Given the description of an element on the screen output the (x, y) to click on. 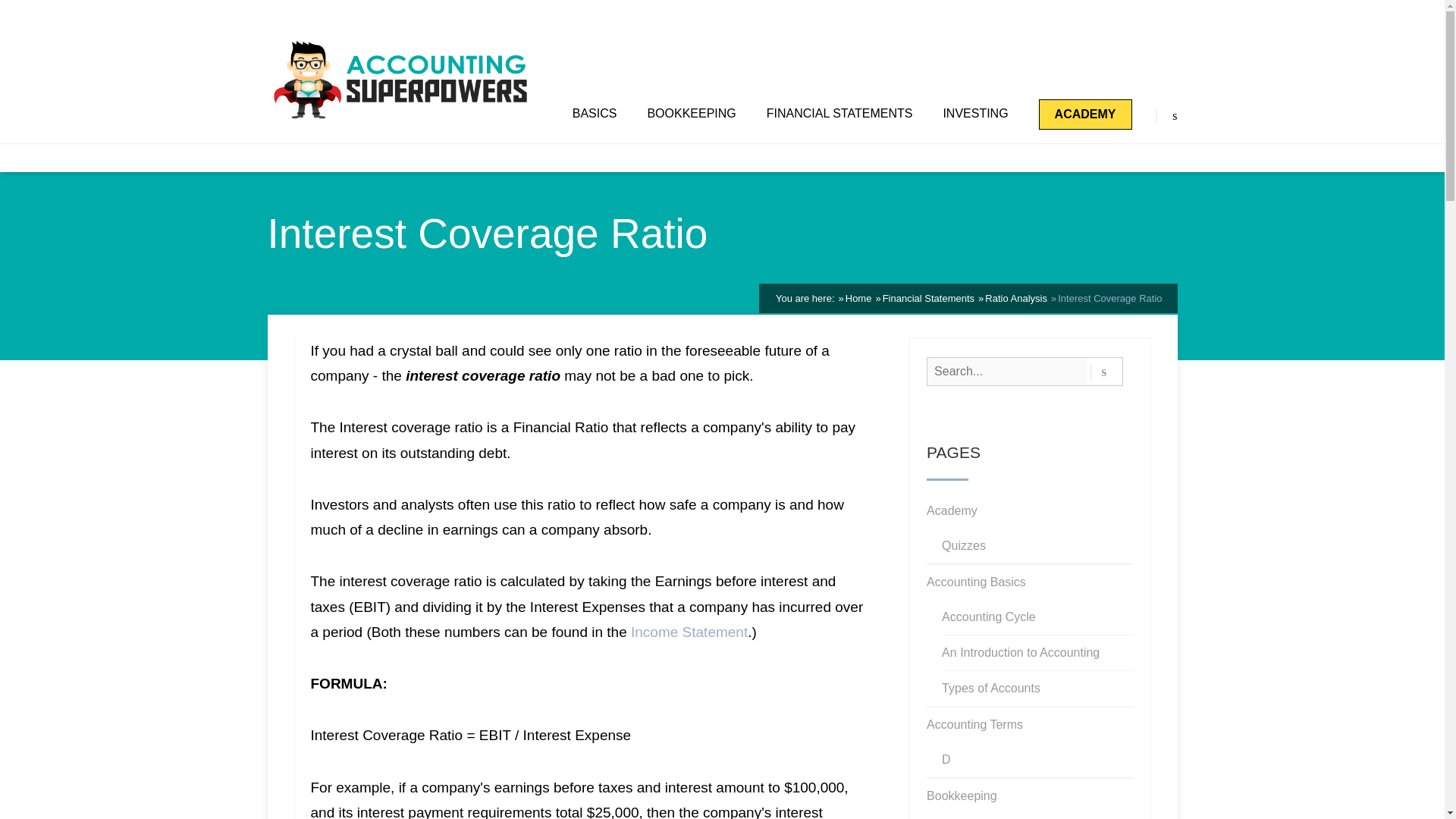
BOOKKEEPING (690, 113)
BASICS (594, 113)
INVESTING (974, 113)
Home (858, 297)
Chart of Accounts (989, 816)
Financial Statements (928, 297)
Types of Accounts (991, 687)
Ratio Analysis (1015, 297)
Academy (951, 510)
An Introduction to Accounting (1020, 652)
Accounting Basics (976, 582)
This Section explains all the Basics of Accounting (594, 113)
ACADEMY (1085, 114)
Quizzes (963, 545)
Accounting Terms (974, 724)
